Given the description of an element on the screen output the (x, y) to click on. 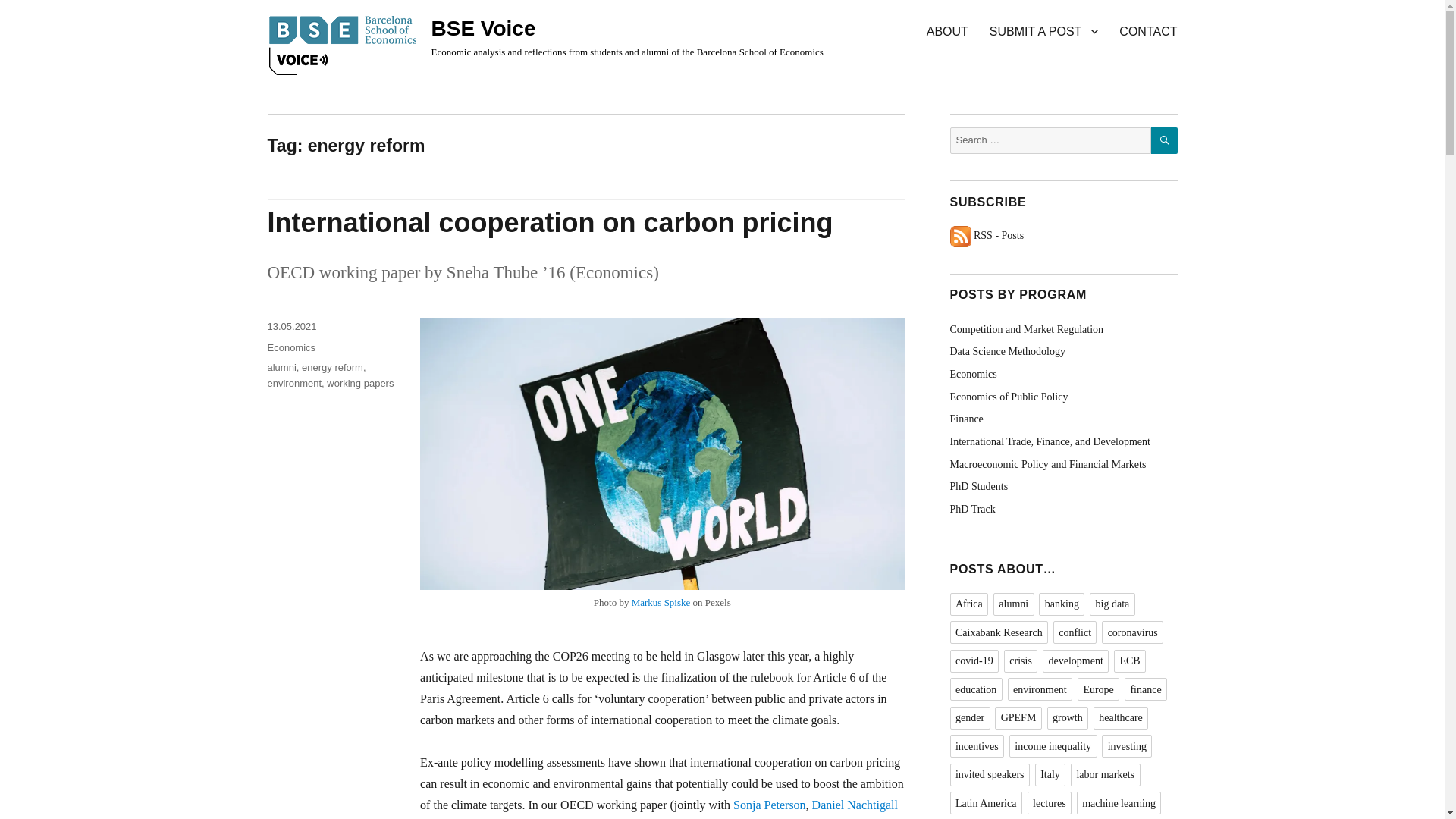
Markus Spiske (660, 602)
alumni (280, 367)
Sonja Peterson (769, 804)
Economics (290, 347)
energy reform (331, 367)
CONTACT (1148, 30)
BSE Voice (482, 28)
working papers (359, 383)
International cooperation on carbon pricing (549, 222)
ABOUT (946, 30)
